Given the description of an element on the screen output the (x, y) to click on. 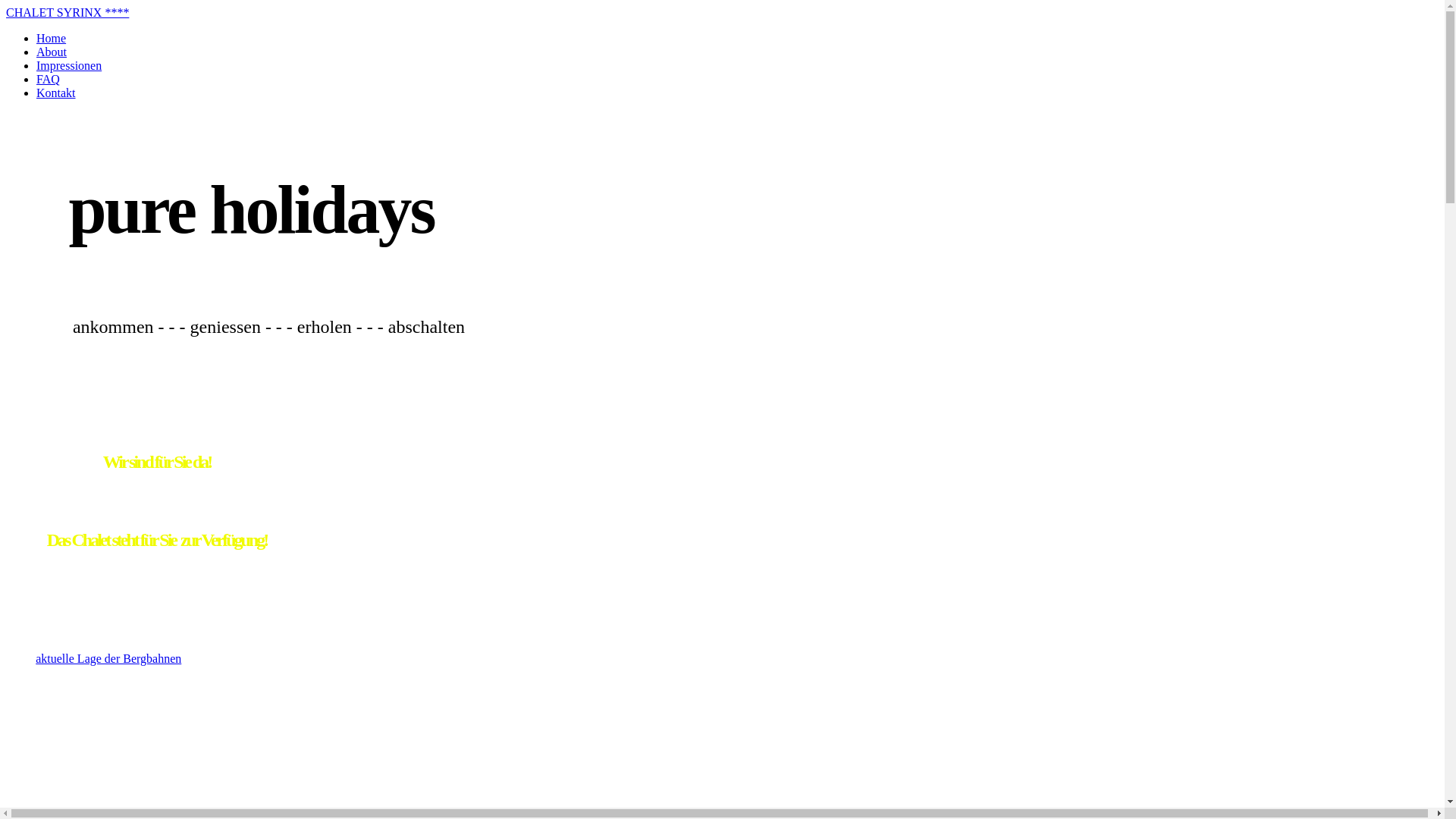
Impressionen Element type: text (68, 65)
FAQ Element type: text (47, 78)
Home Element type: text (50, 37)
Kontakt Element type: text (55, 92)
aktuelle Lage der Bergbahnen Element type: text (108, 658)
About Element type: text (51, 51)
CHALET SYRINX **** Element type: text (67, 12)
